Given the description of an element on the screen output the (x, y) to click on. 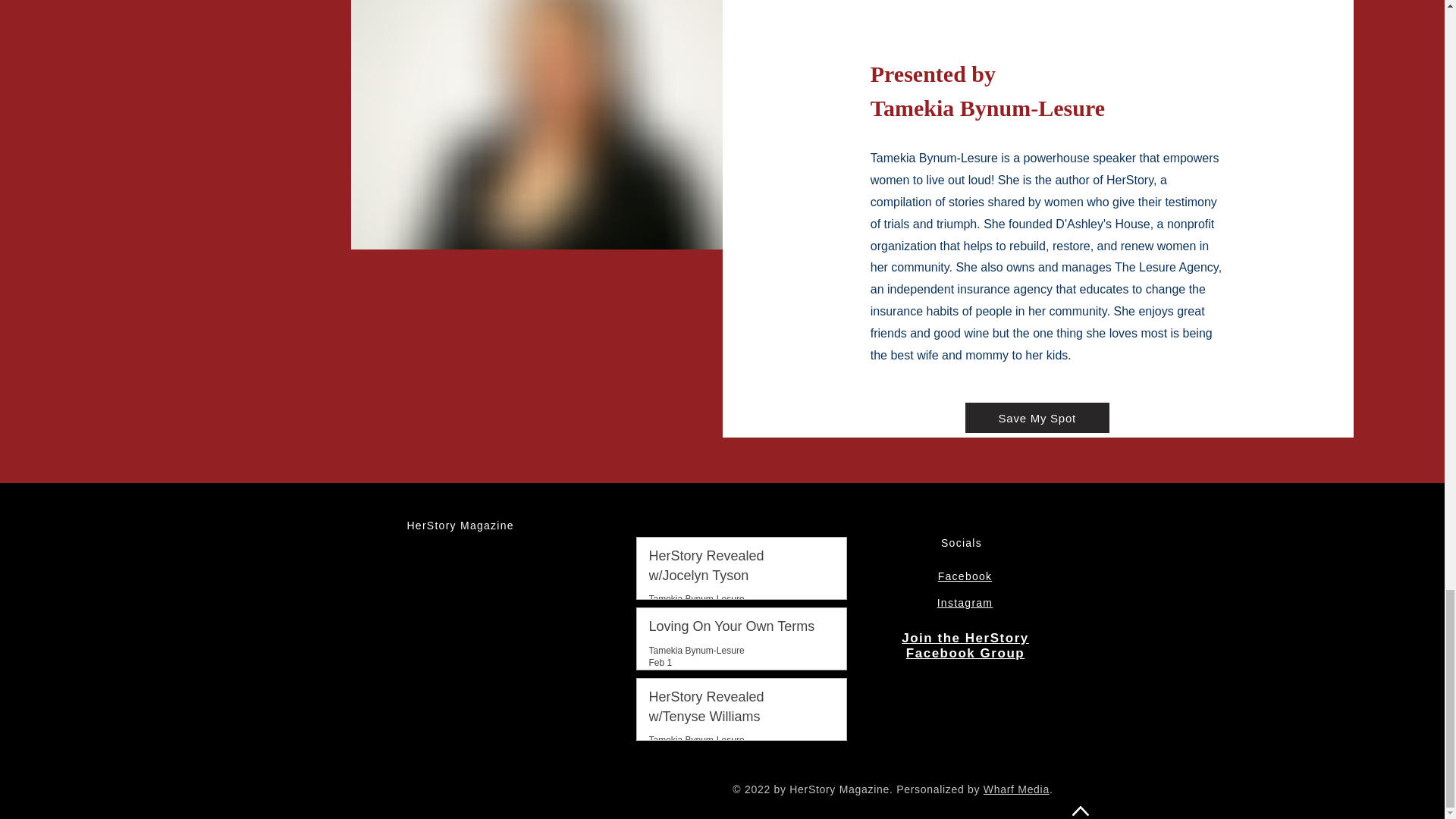
Tamekia Bynum-Lesure (696, 739)
Loving On Your Own Terms (737, 629)
Instagram (964, 603)
Tamekia Bynum-Lesure (696, 739)
Wharf Media (1016, 788)
Tamekia Bynum-Lesure (696, 649)
Save My Spot (1037, 417)
Facebook Group (965, 653)
Tamekia Bynum-Lesure (696, 598)
Tamekia Bynum-Lesure (696, 650)
Feb 1 (660, 662)
Tamekia Bynum-Lesure (696, 598)
Facebook (964, 576)
Join the HerStory (965, 637)
